Given the description of an element on the screen output the (x, y) to click on. 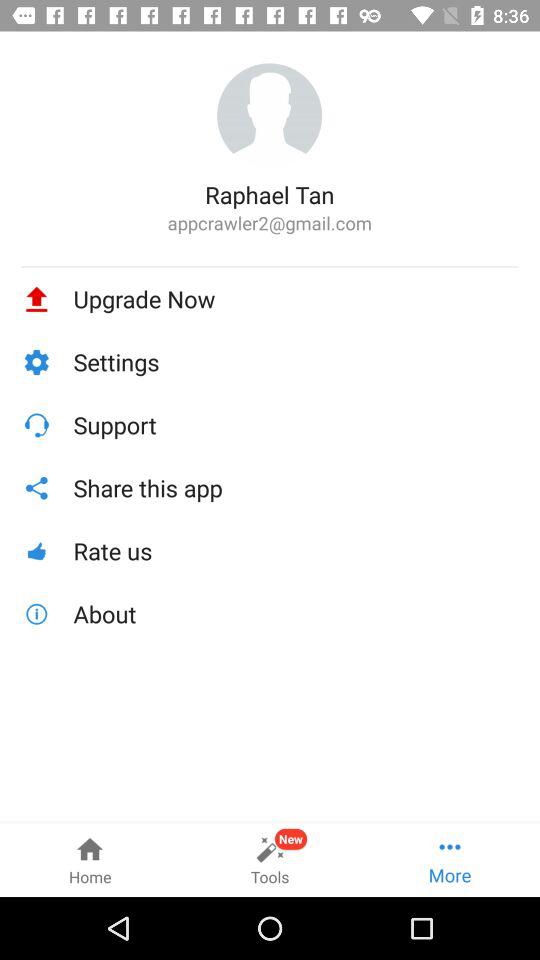
turn off the icon below the rate us icon (296, 614)
